Given the description of an element on the screen output the (x, y) to click on. 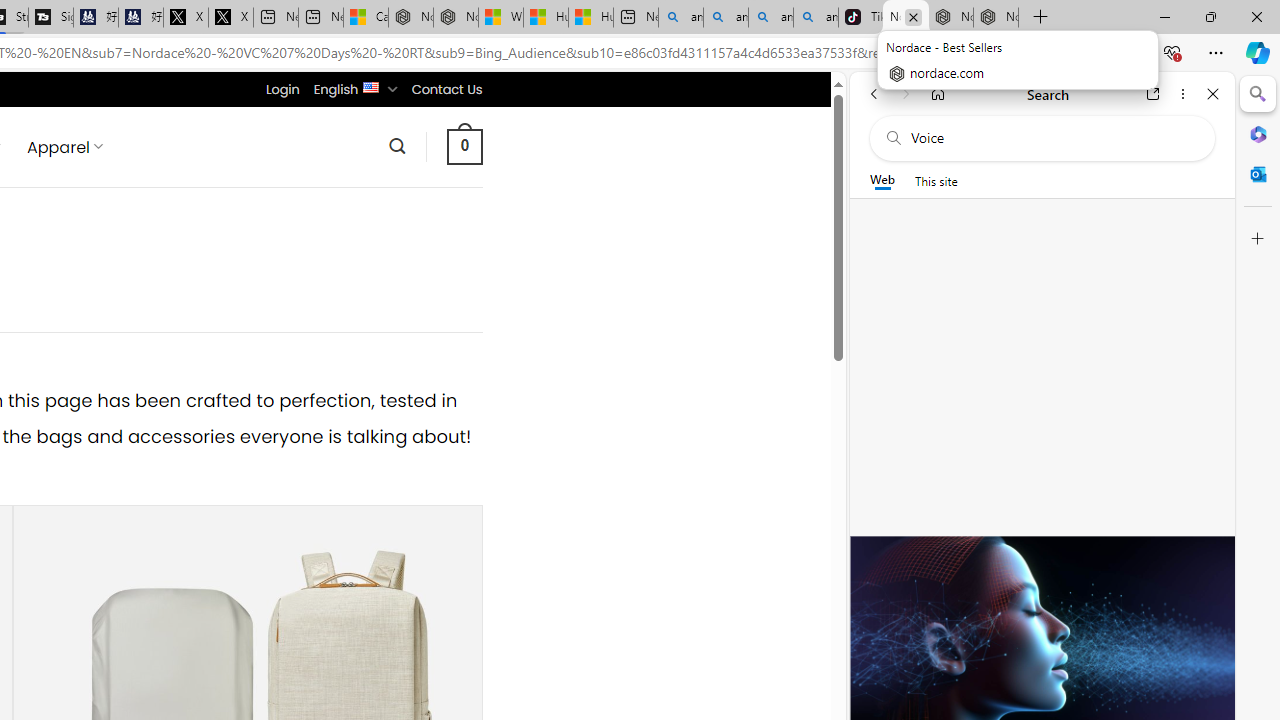
Home (938, 93)
English (371, 86)
Login (281, 89)
Nordace - Summer Adventures 2024 (455, 17)
More options (1182, 93)
  0   (464, 146)
